Given the description of an element on the screen output the (x, y) to click on. 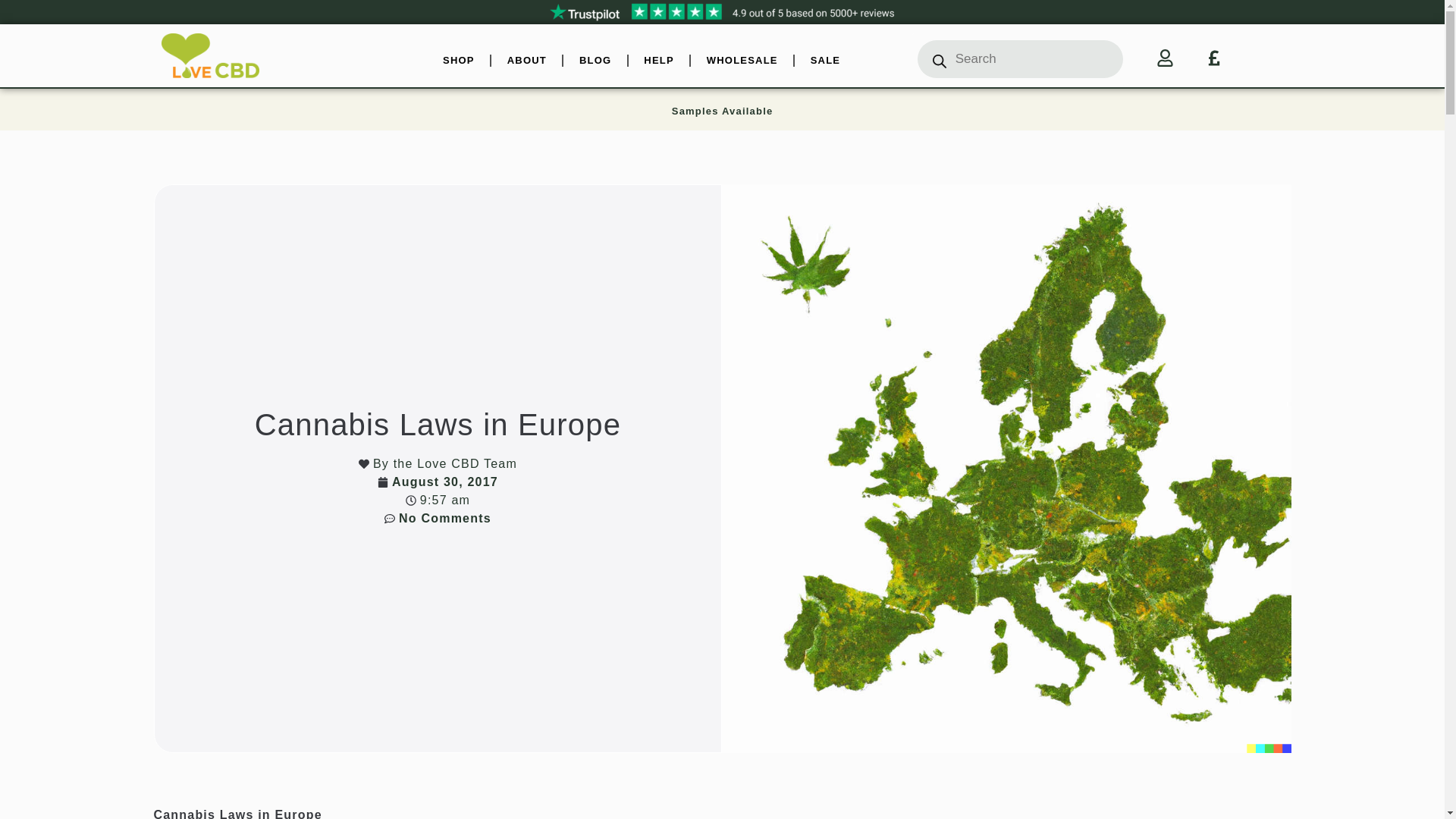
Samples Available (722, 111)
HELP (658, 60)
SHOP (458, 60)
SALE (825, 60)
BLOG (595, 60)
ABOUT (527, 60)
WHOLESALE (742, 60)
